Given the description of an element on the screen output the (x, y) to click on. 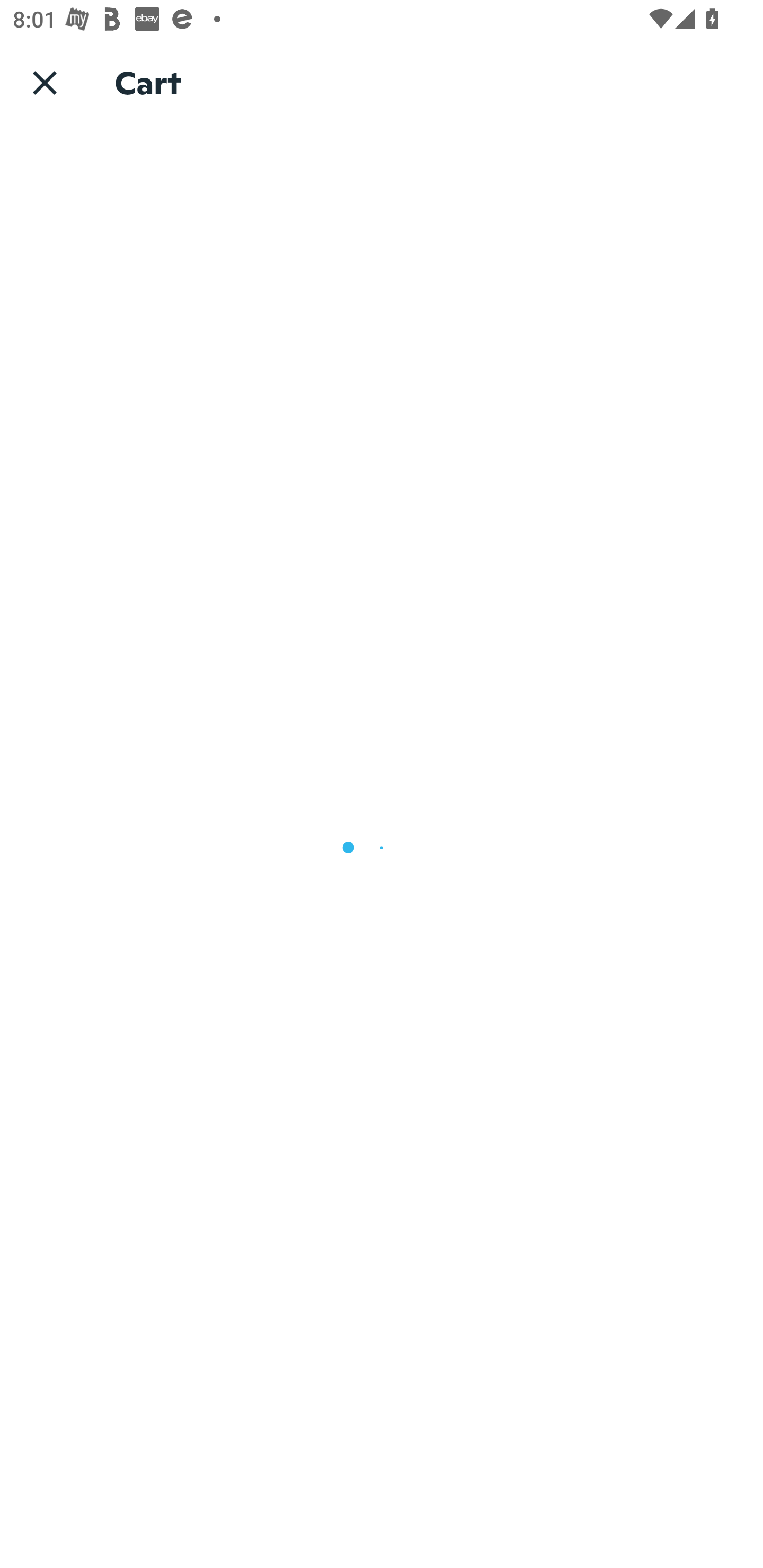
Navigate up (44, 82)
